Given the description of an element on the screen output the (x, y) to click on. 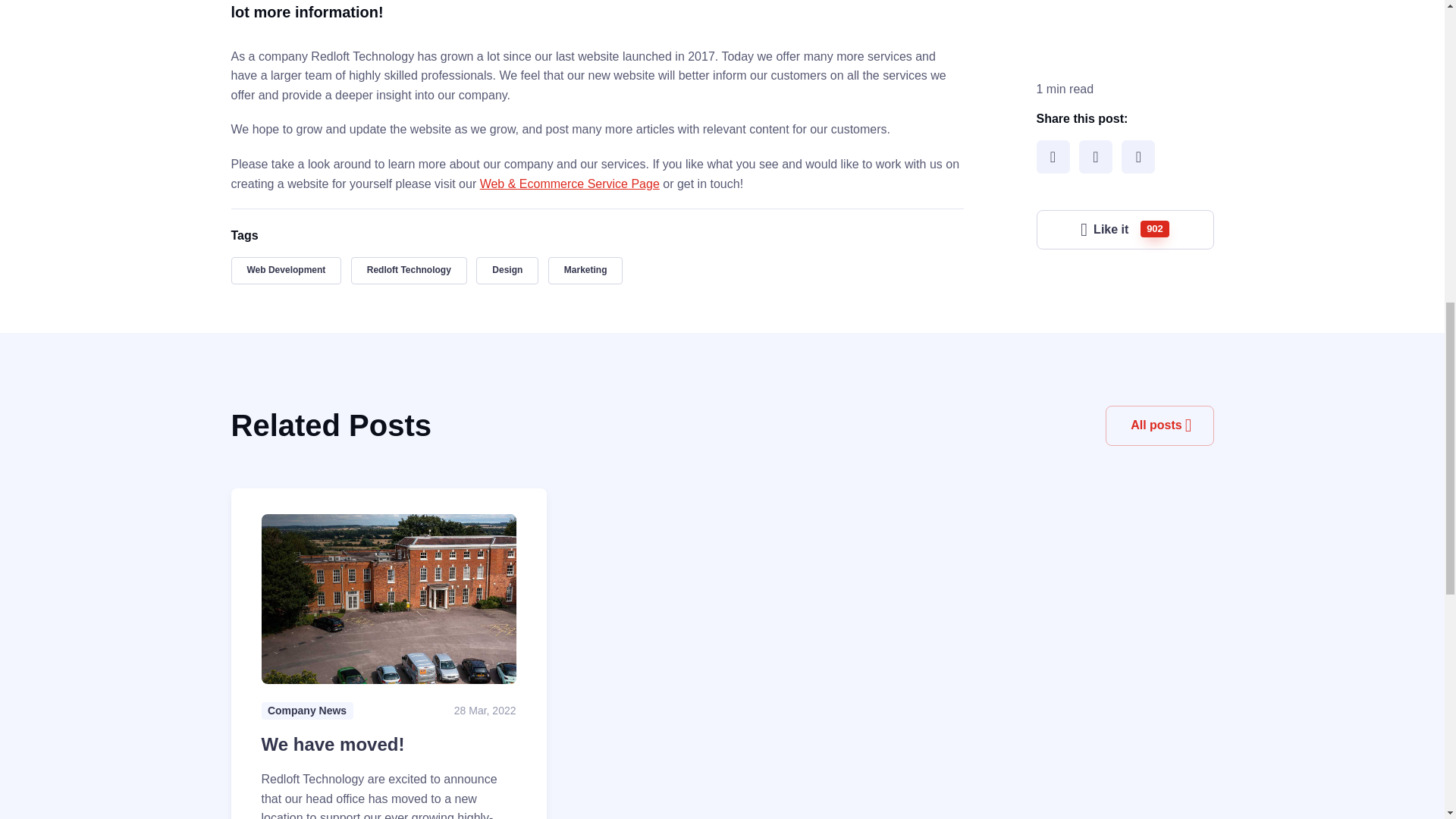
Web and Ecommerce Service Page (569, 183)
